Given the description of an element on the screen output the (x, y) to click on. 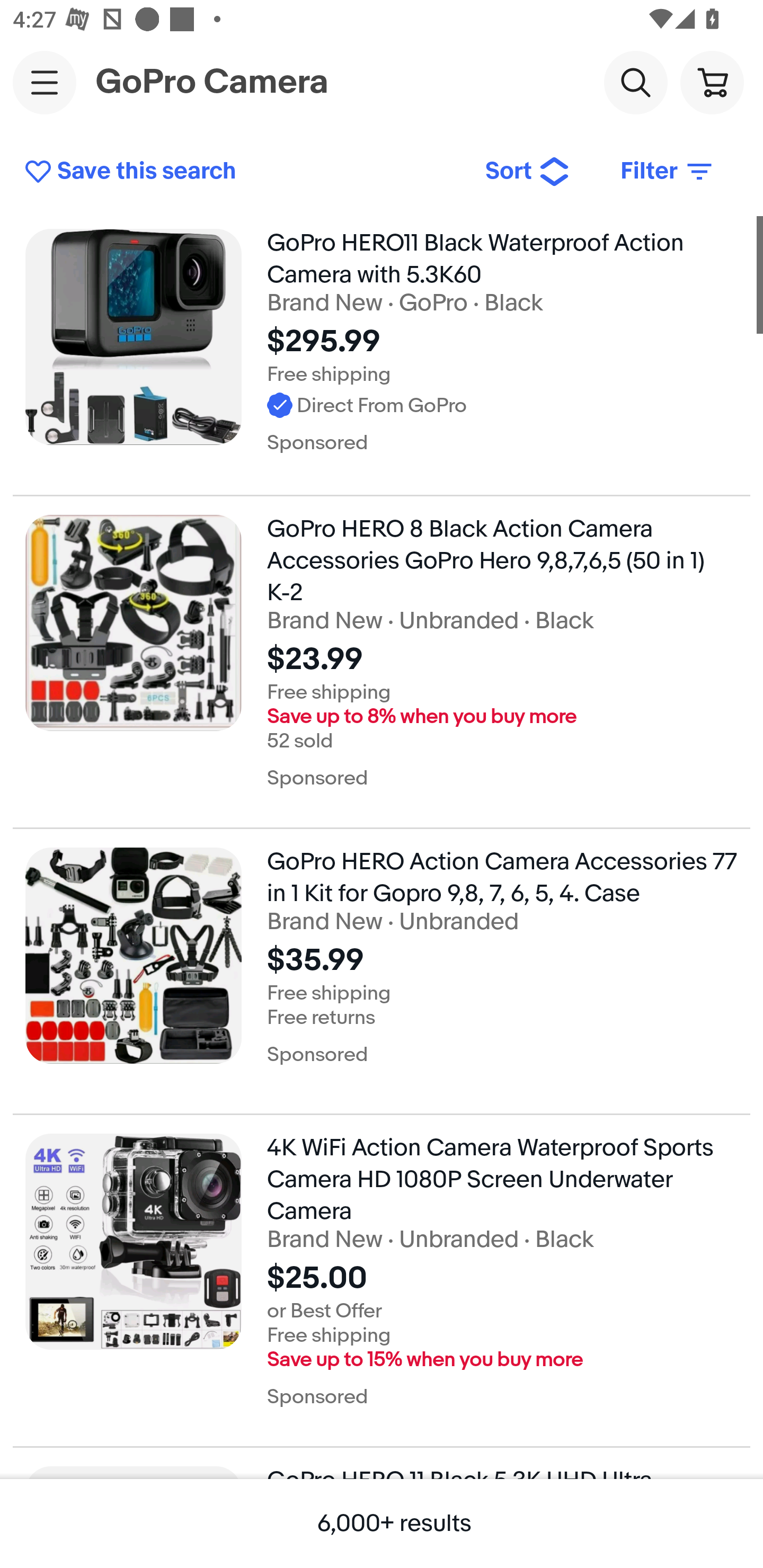
Main navigation, open (44, 82)
Search (635, 81)
Cart button shopping cart (711, 81)
Save this search (241, 171)
Sort (527, 171)
Filter (667, 171)
